Given the description of an element on the screen output the (x, y) to click on. 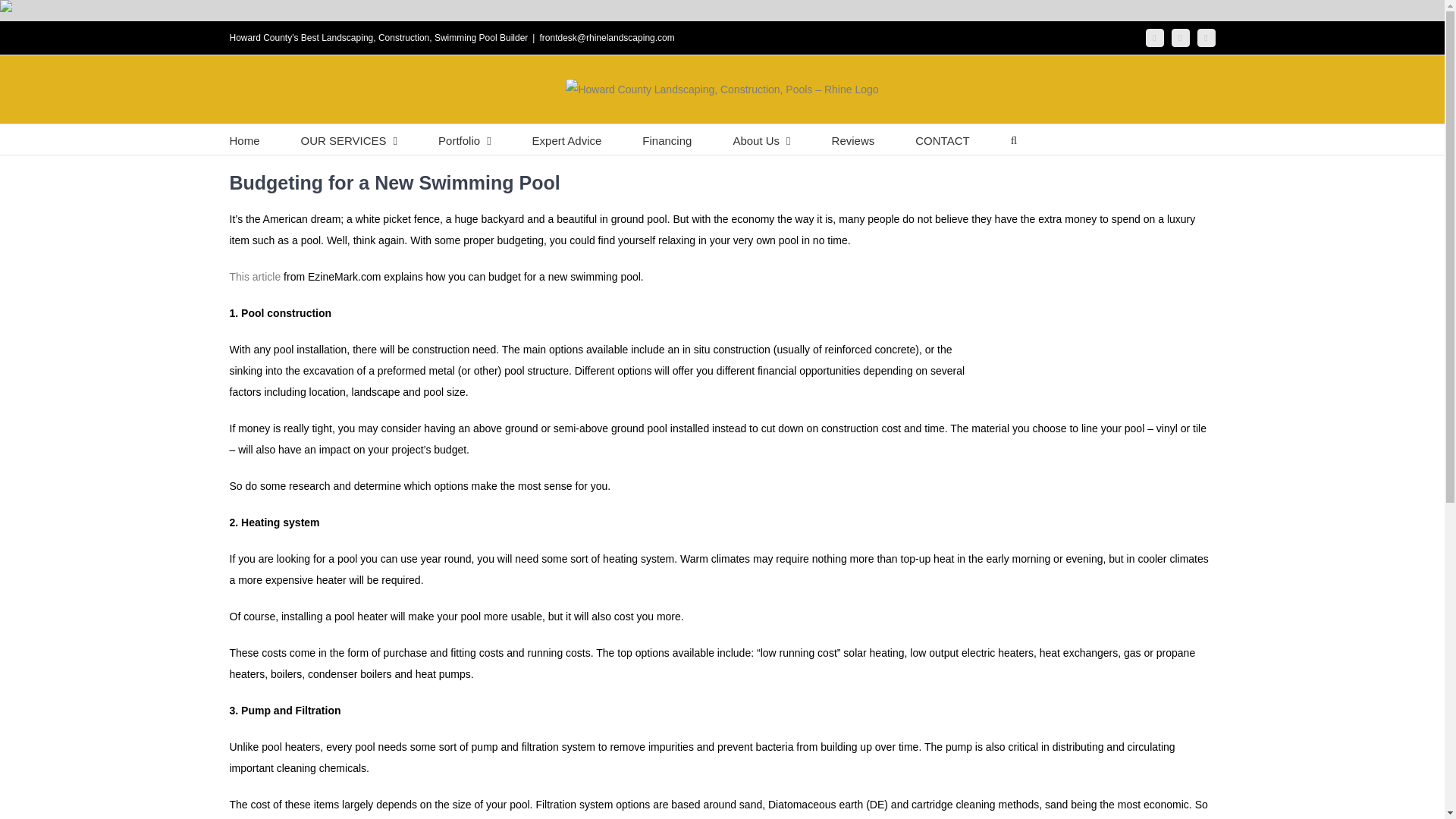
Facebook (1180, 37)
Financing (666, 139)
Portfolio (465, 139)
Home (243, 139)
Instagram (1205, 37)
Facebook (1154, 37)
Expert Advice (567, 139)
Facebook (1180, 37)
Facebook (1154, 37)
